Given the description of an element on the screen output the (x, y) to click on. 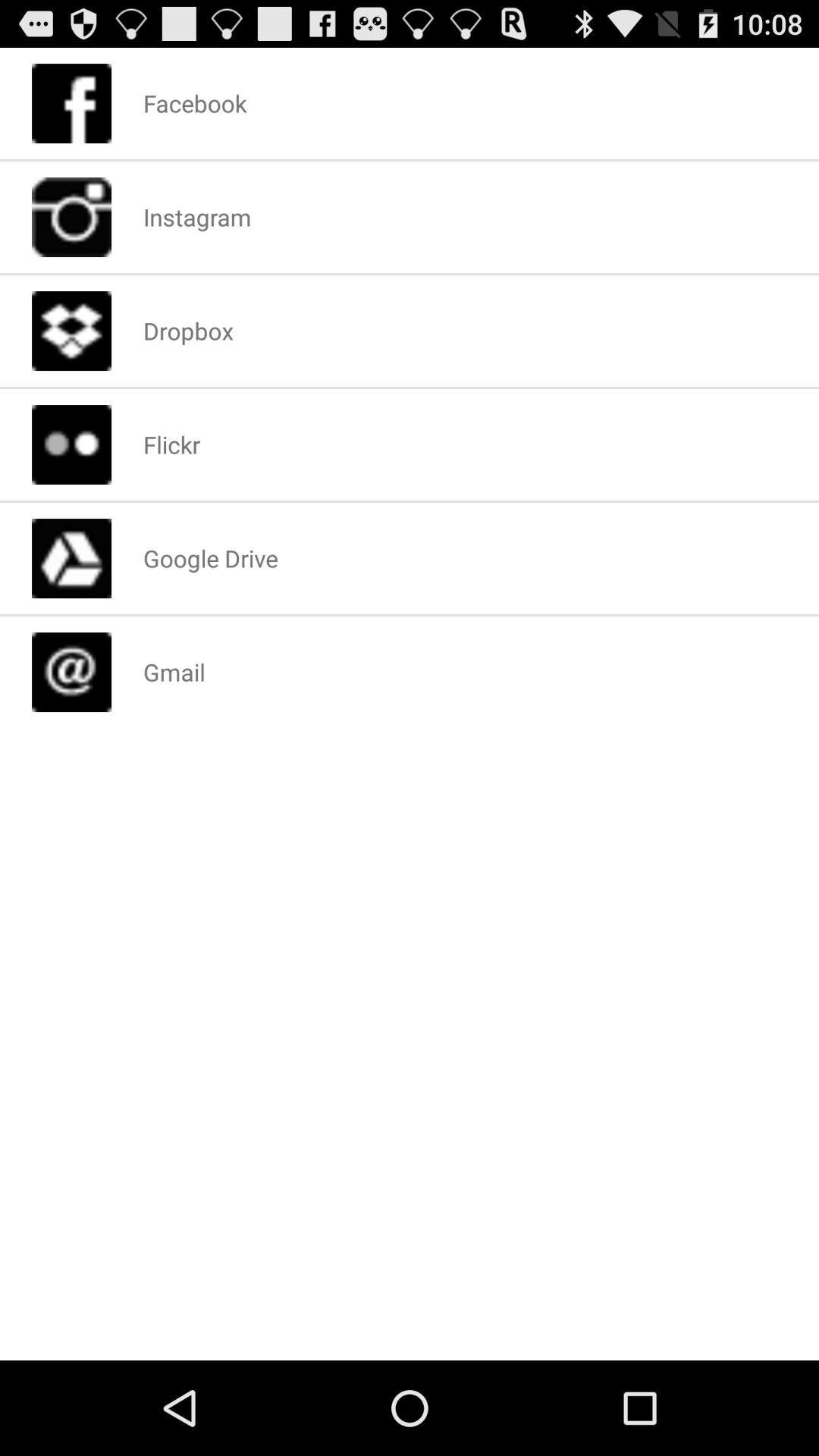
tap app below the dropbox (171, 444)
